Given the description of an element on the screen output the (x, y) to click on. 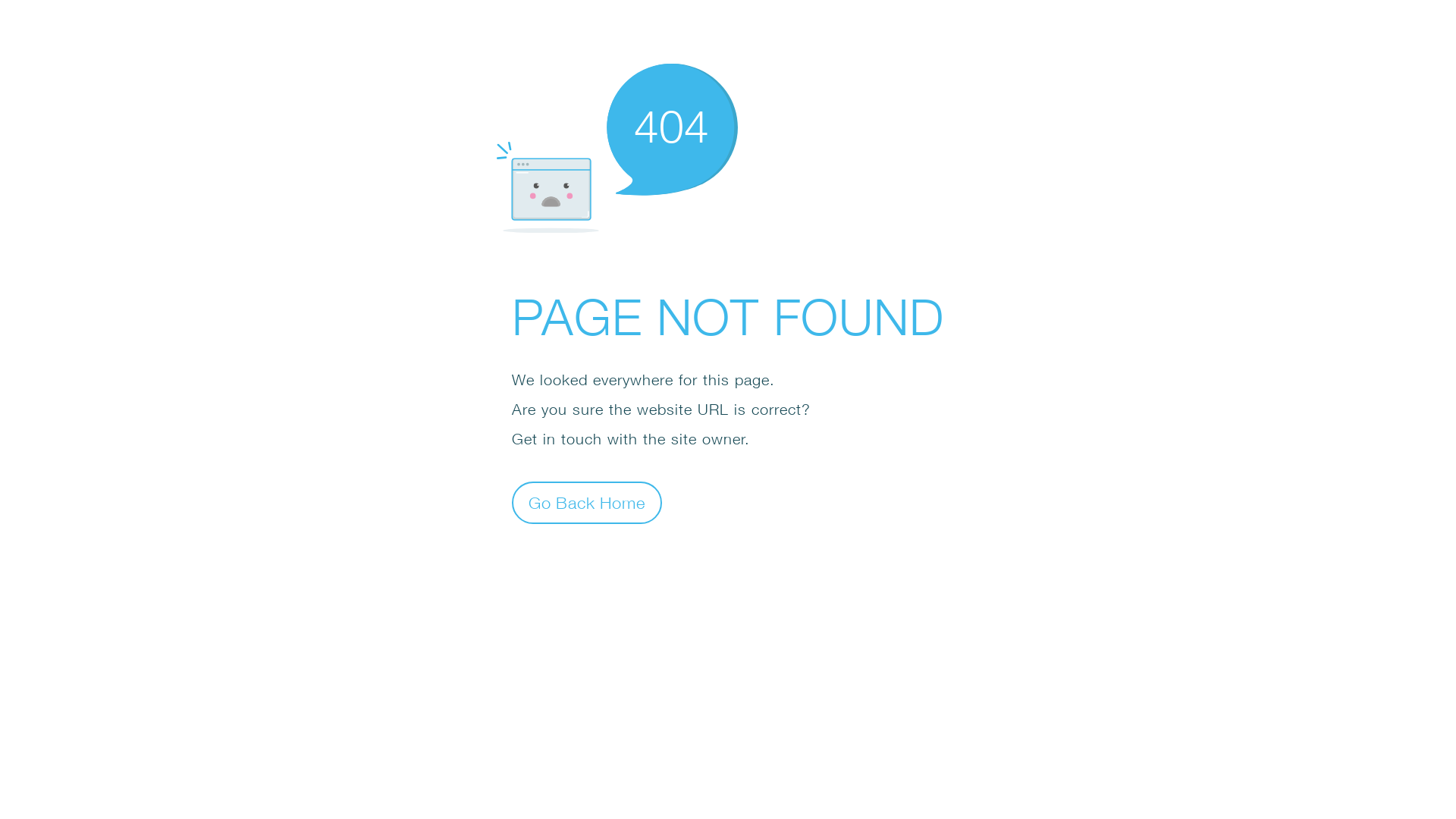
Go Back Home Element type: text (586, 502)
